Given the description of an element on the screen output the (x, y) to click on. 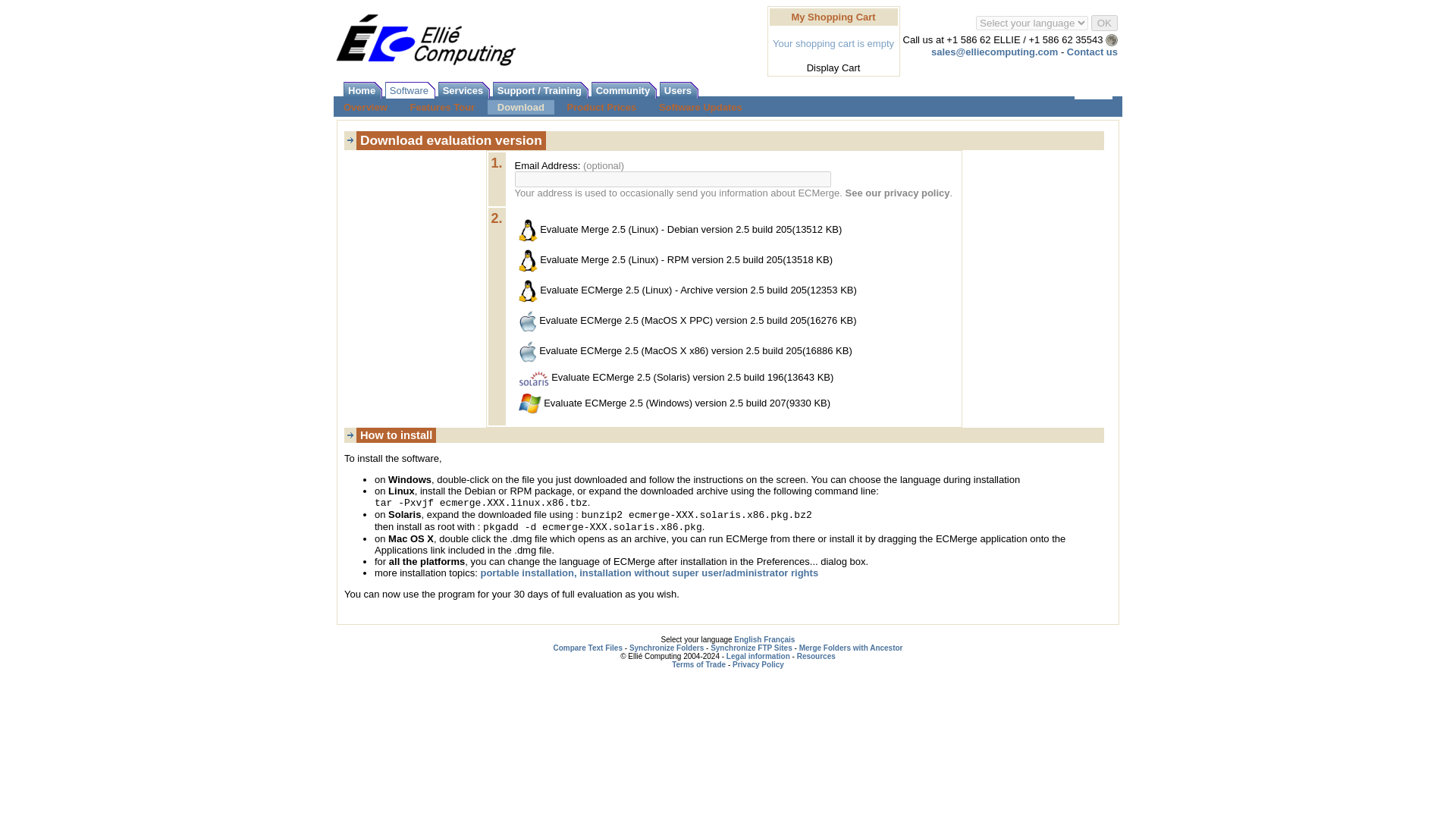
Services (464, 90)
Home (362, 90)
Privacy Policy (758, 664)
Software (410, 90)
Terms of Trade (698, 664)
Software Updates (700, 106)
Users (678, 90)
Download (520, 106)
Community (624, 90)
Product Prices (601, 106)
